Given the description of an element on the screen output the (x, y) to click on. 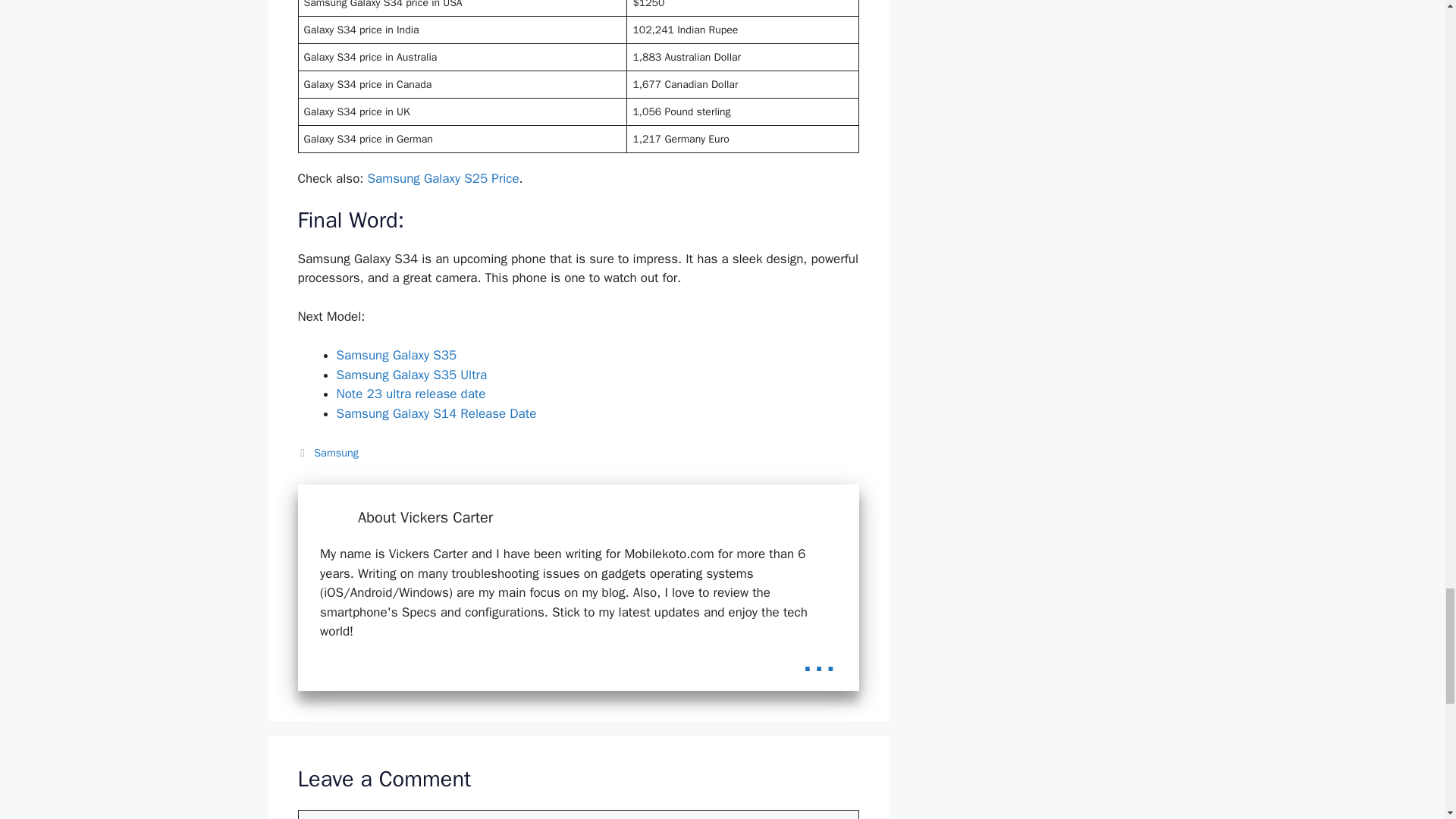
Samsung Galaxy S35 Ultra (411, 374)
Note 23 ultra release date (411, 393)
Samsung Galaxy S35 (396, 355)
Read more (818, 659)
Samsung Galaxy S25 Price (443, 178)
... (818, 659)
Samsung Galaxy S14 Release Date (436, 413)
Samsung (336, 452)
